Given the description of an element on the screen output the (x, y) to click on. 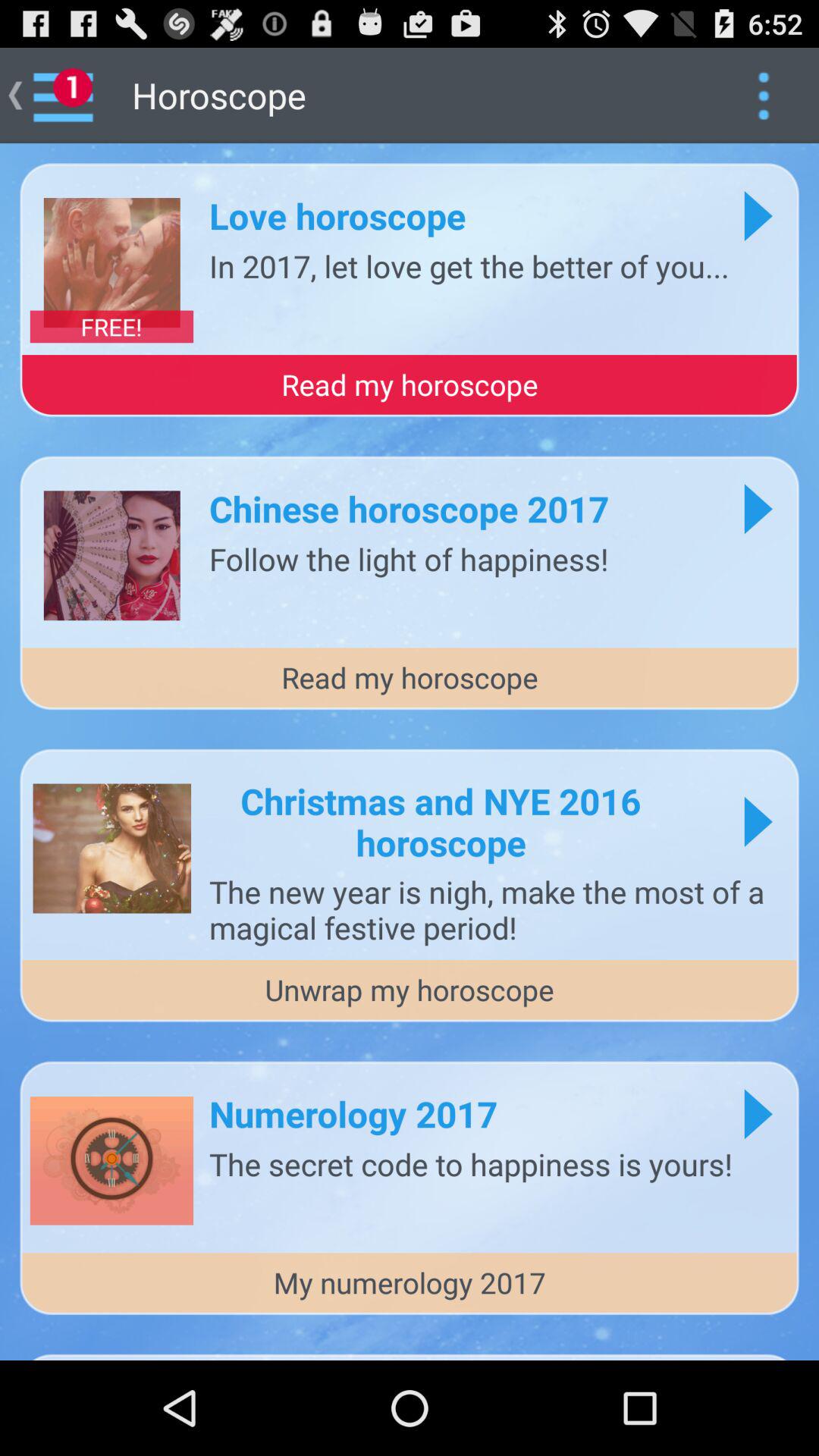
launch app below the chinese horoscope 2017 item (408, 558)
